Given the description of an element on the screen output the (x, y) to click on. 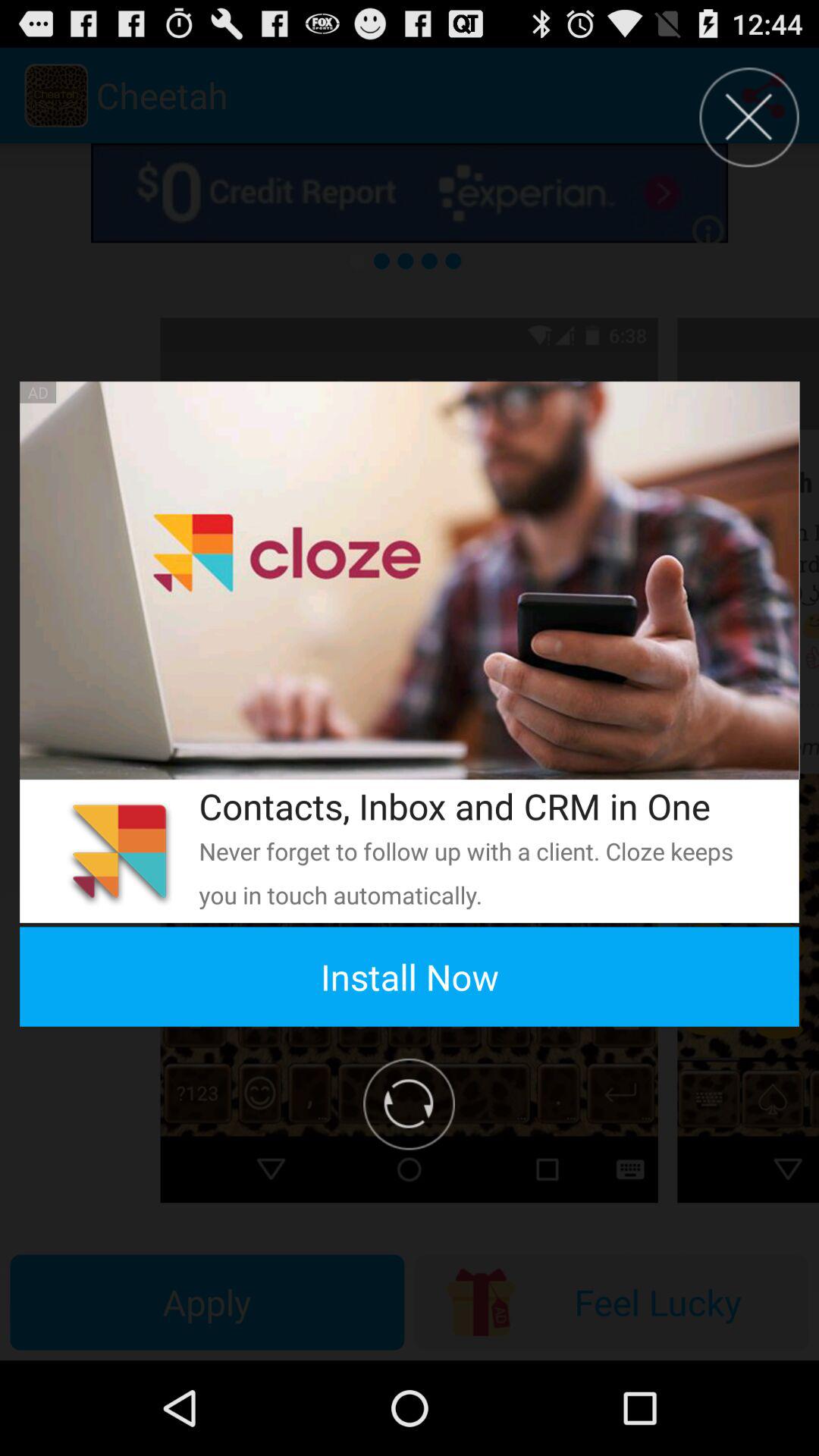
select app to the left of the contacts inbox and item (119, 851)
